Given the description of an element on the screen output the (x, y) to click on. 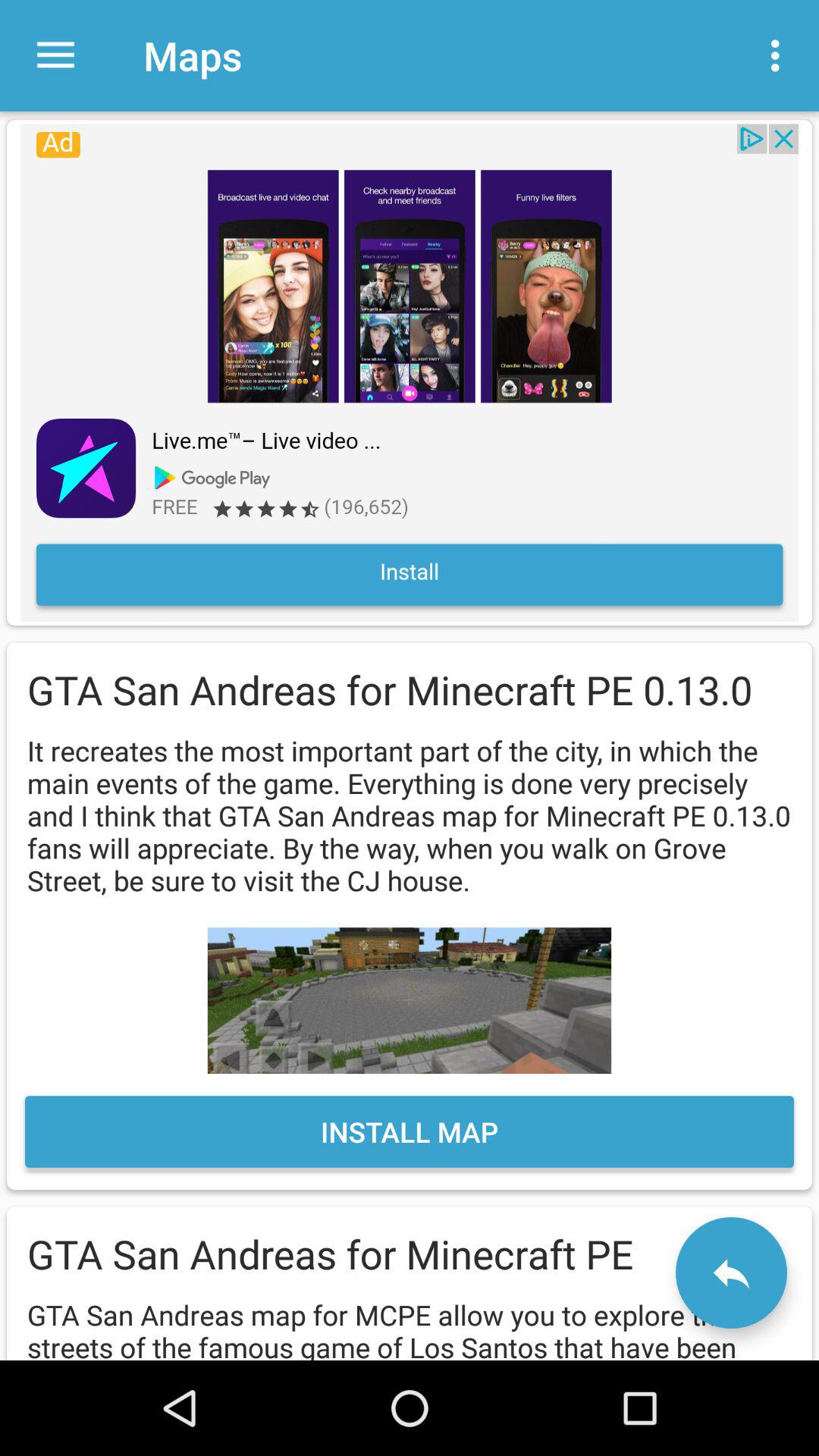
reply (731, 1272)
